Given the description of an element on the screen output the (x, y) to click on. 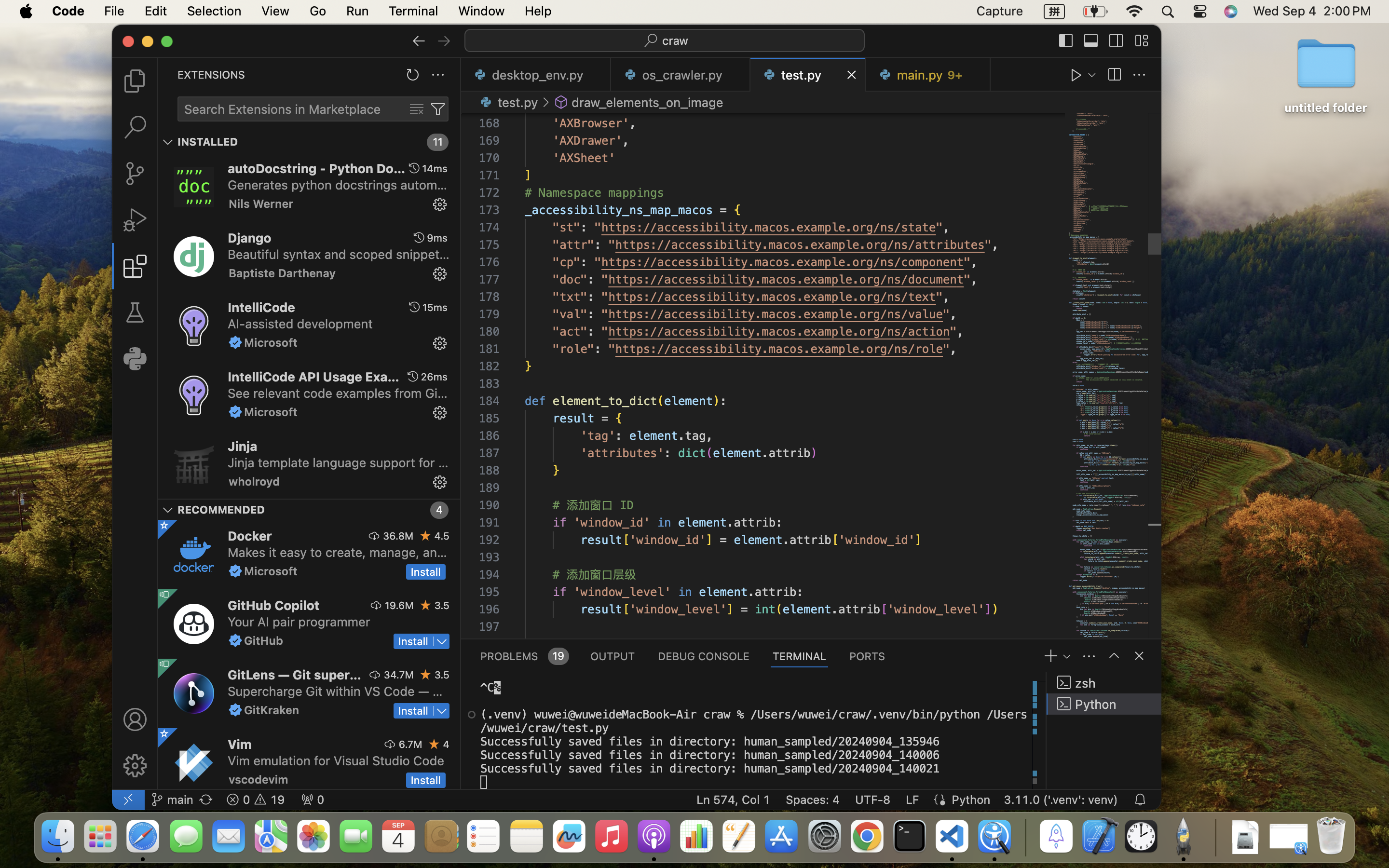
9ms Element type: AXStaticText (437, 237)
Jinja Element type: AXStaticText (242, 445)
0 main.py   9+ Element type: AXRadioButton (928, 74)
Makes it easy to create, manage, and debug containerized applications. Element type: AXStaticText (337, 551)
0 PROBLEMS 19 Element type: AXRadioButton (523, 655)
